Given the description of an element on the screen output the (x, y) to click on. 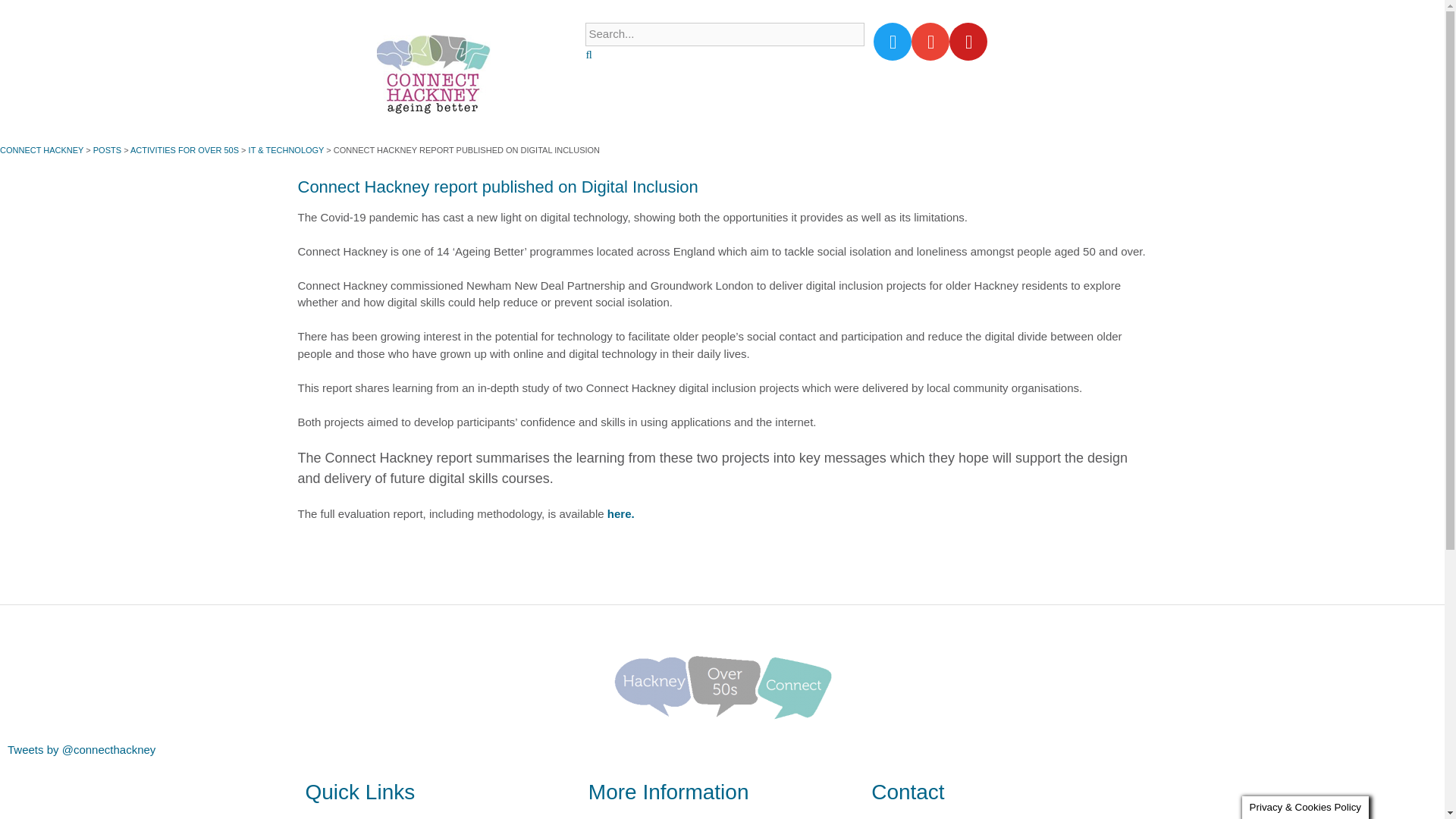
Go to POSTS. (106, 149)
ACTIVITIES FOR OVER 50S (184, 149)
Go to Connect Hackney. (41, 149)
POSTS (106, 149)
CONNECT HACKNEY (41, 149)
Go to the Activities for Over 50s category archives. (184, 149)
here. (620, 513)
Search for: (724, 33)
